Given the description of an element on the screen output the (x, y) to click on. 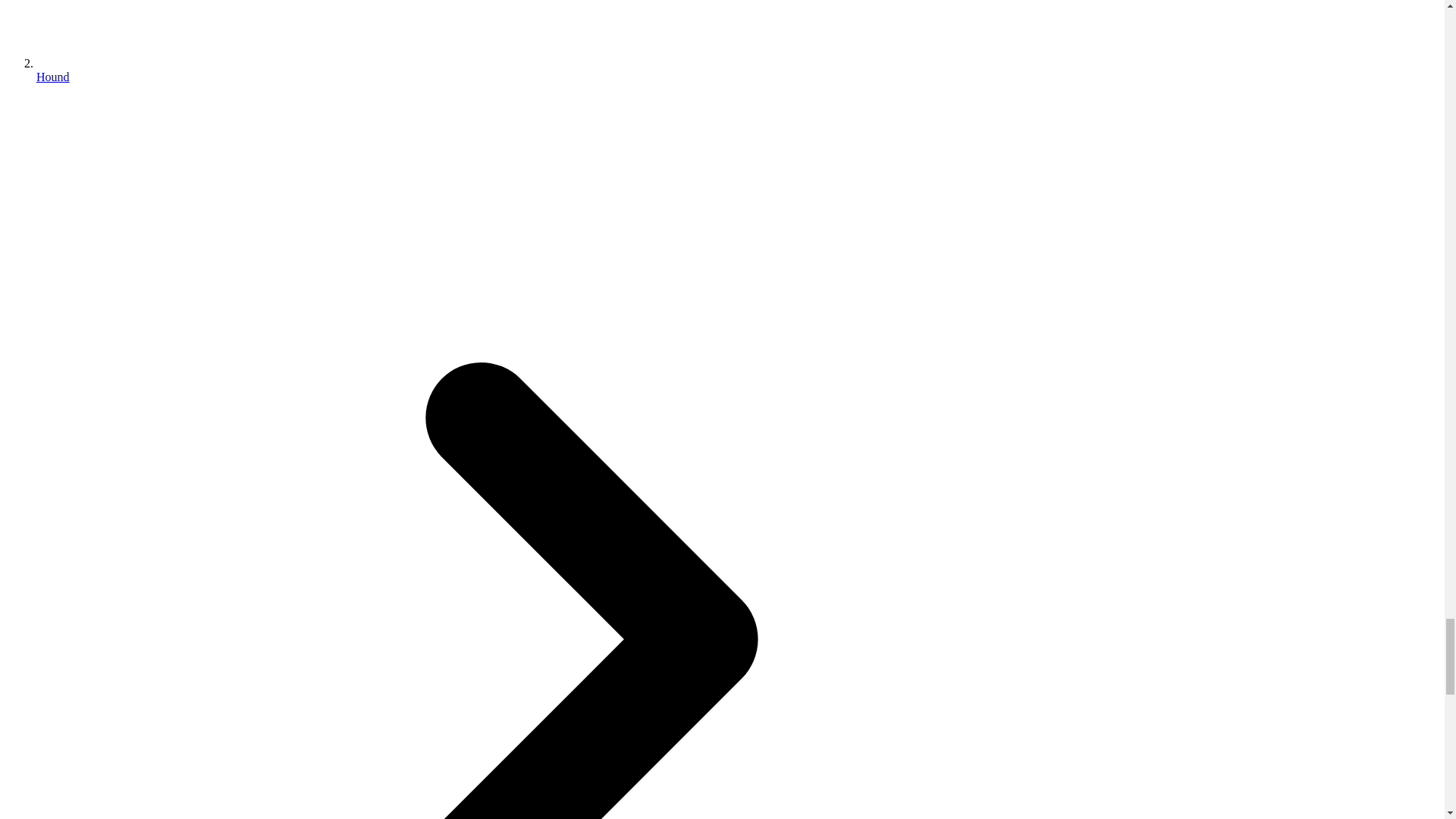
Hound (52, 76)
